Given the description of an element on the screen output the (x, y) to click on. 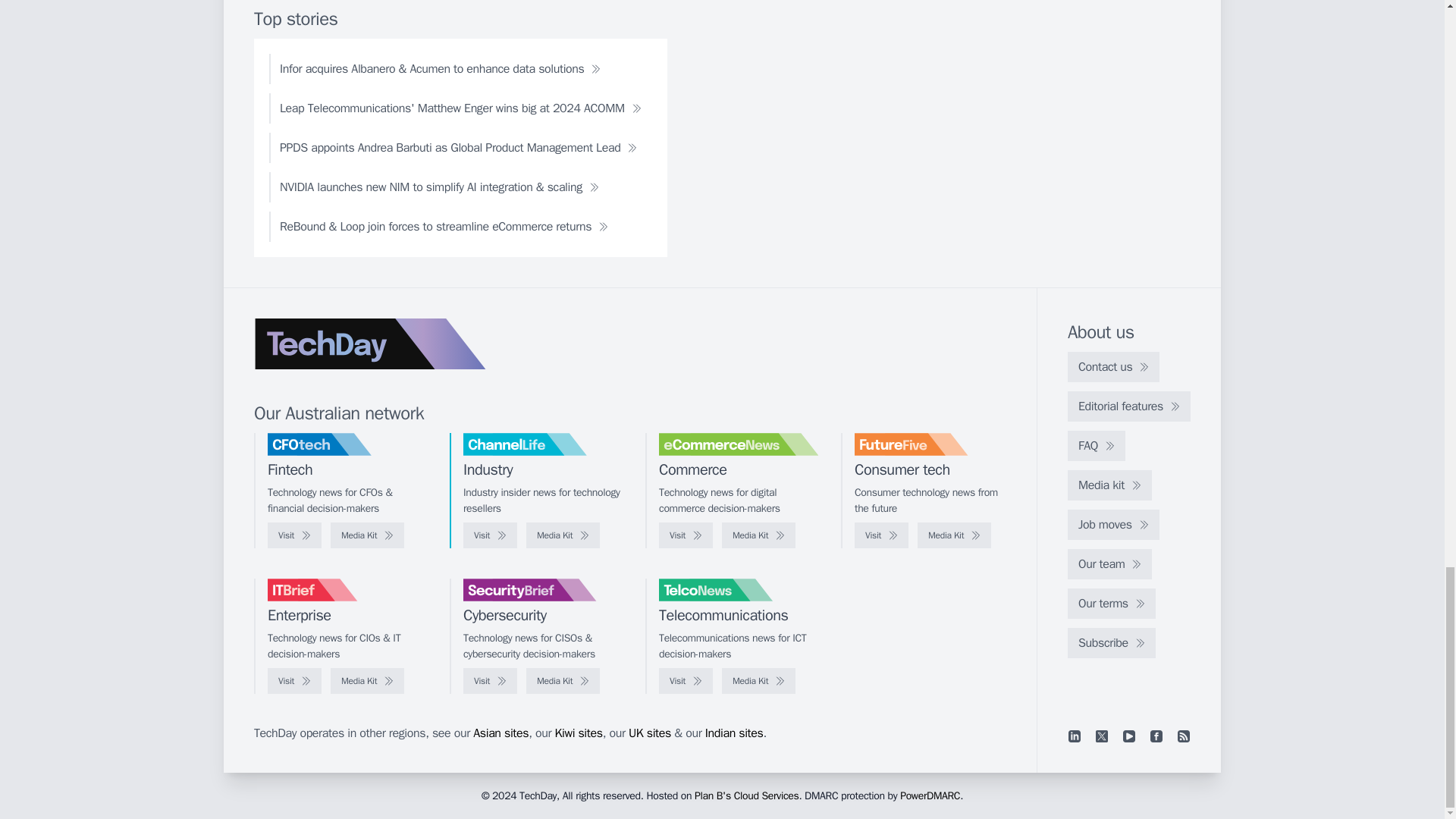
Visit (489, 534)
Media Kit (954, 534)
Media Kit (758, 534)
Media Kit (367, 534)
Visit (686, 534)
Visit (294, 534)
Media Kit (562, 534)
Visit (881, 534)
